Given the description of an element on the screen output the (x, y) to click on. 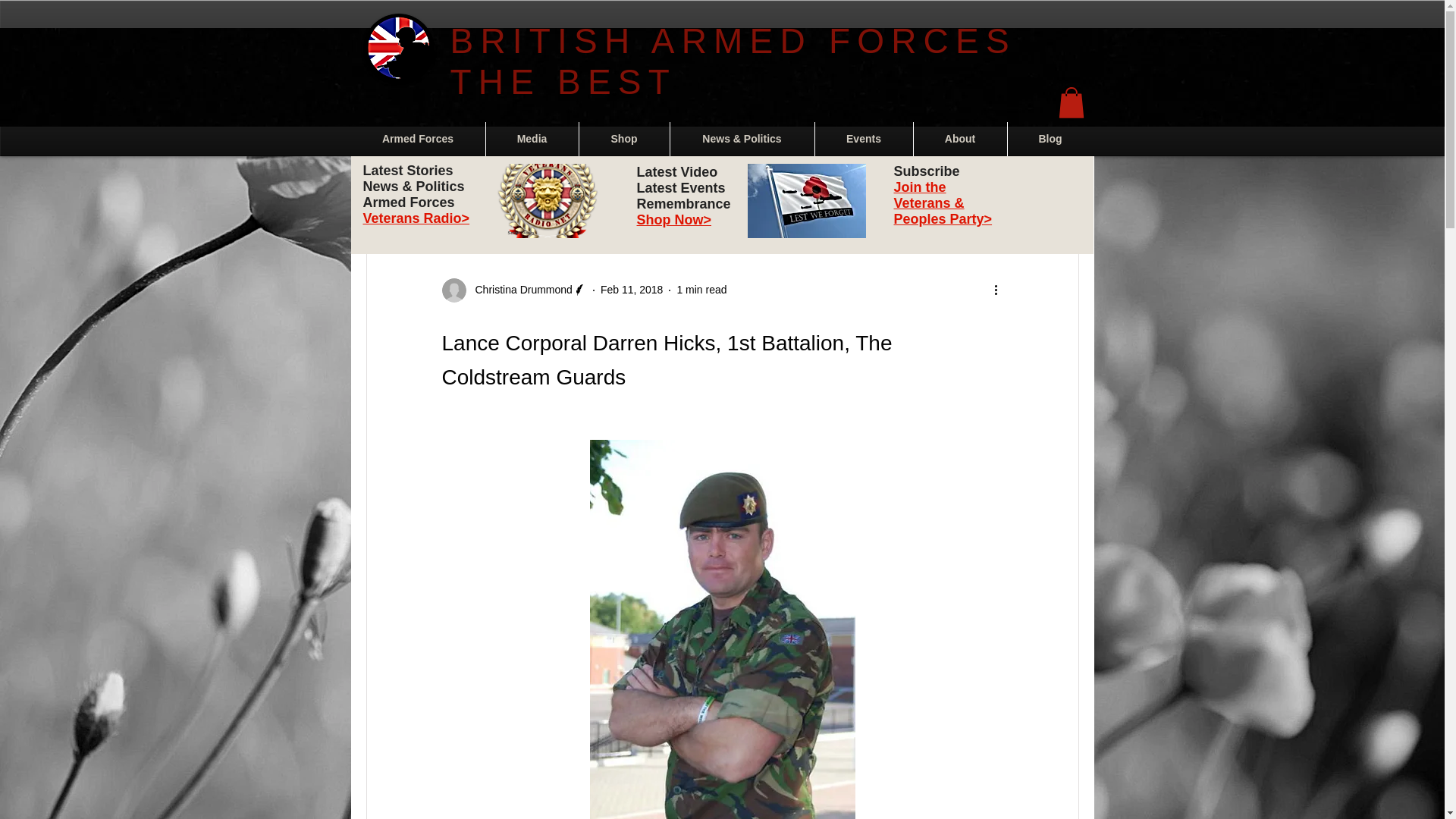
Armed Forces (417, 139)
Shop (624, 139)
Marion Rogers (683, 186)
Remembrance (525, 186)
Charities (768, 186)
News (448, 186)
About (959, 139)
All Posts (385, 186)
Events (862, 139)
Media (531, 139)
